Given the description of an element on the screen output the (x, y) to click on. 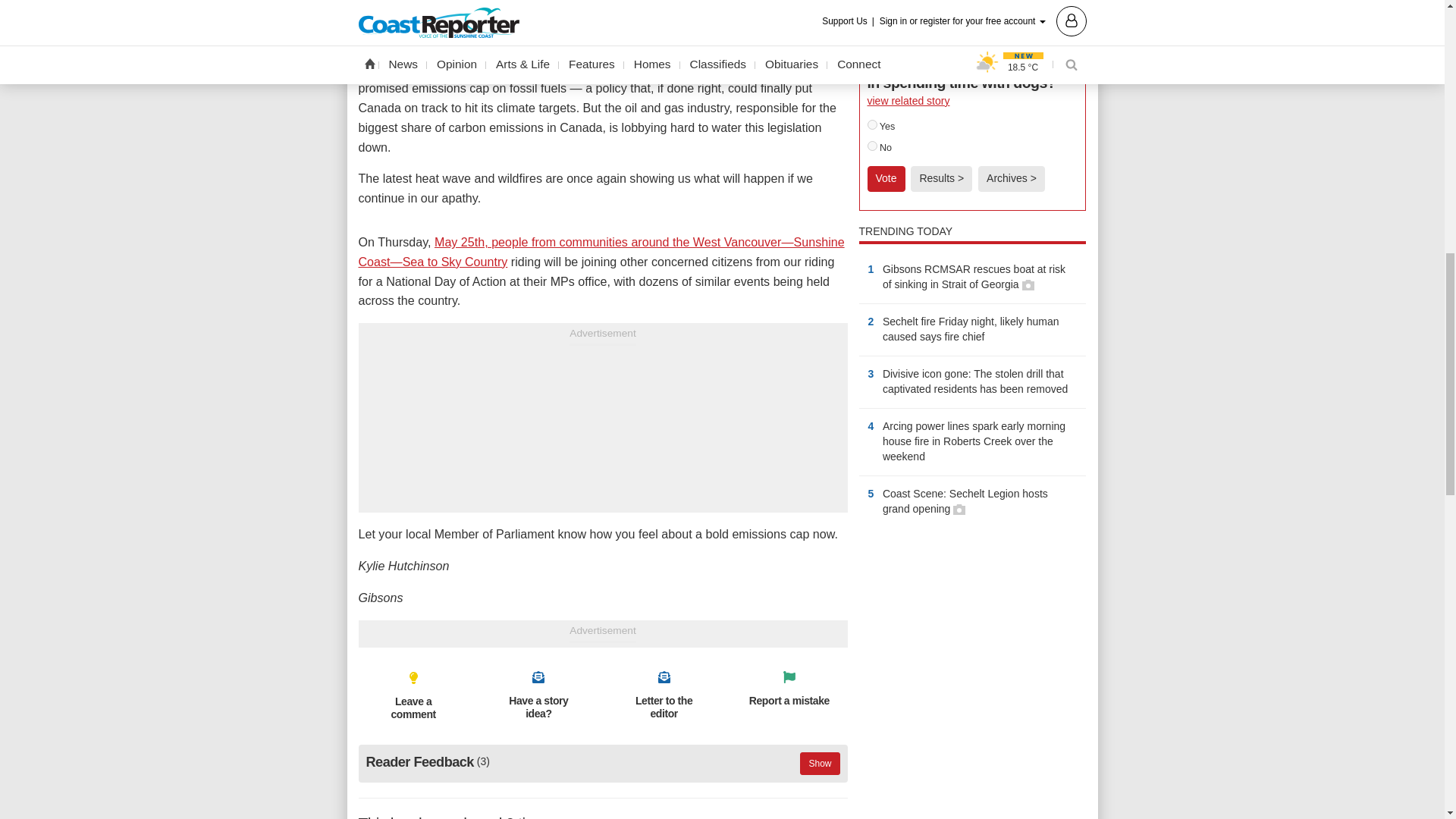
Has a gallery (959, 509)
122785 (872, 145)
122784 (872, 124)
Has a gallery (1027, 285)
